Given the description of an element on the screen output the (x, y) to click on. 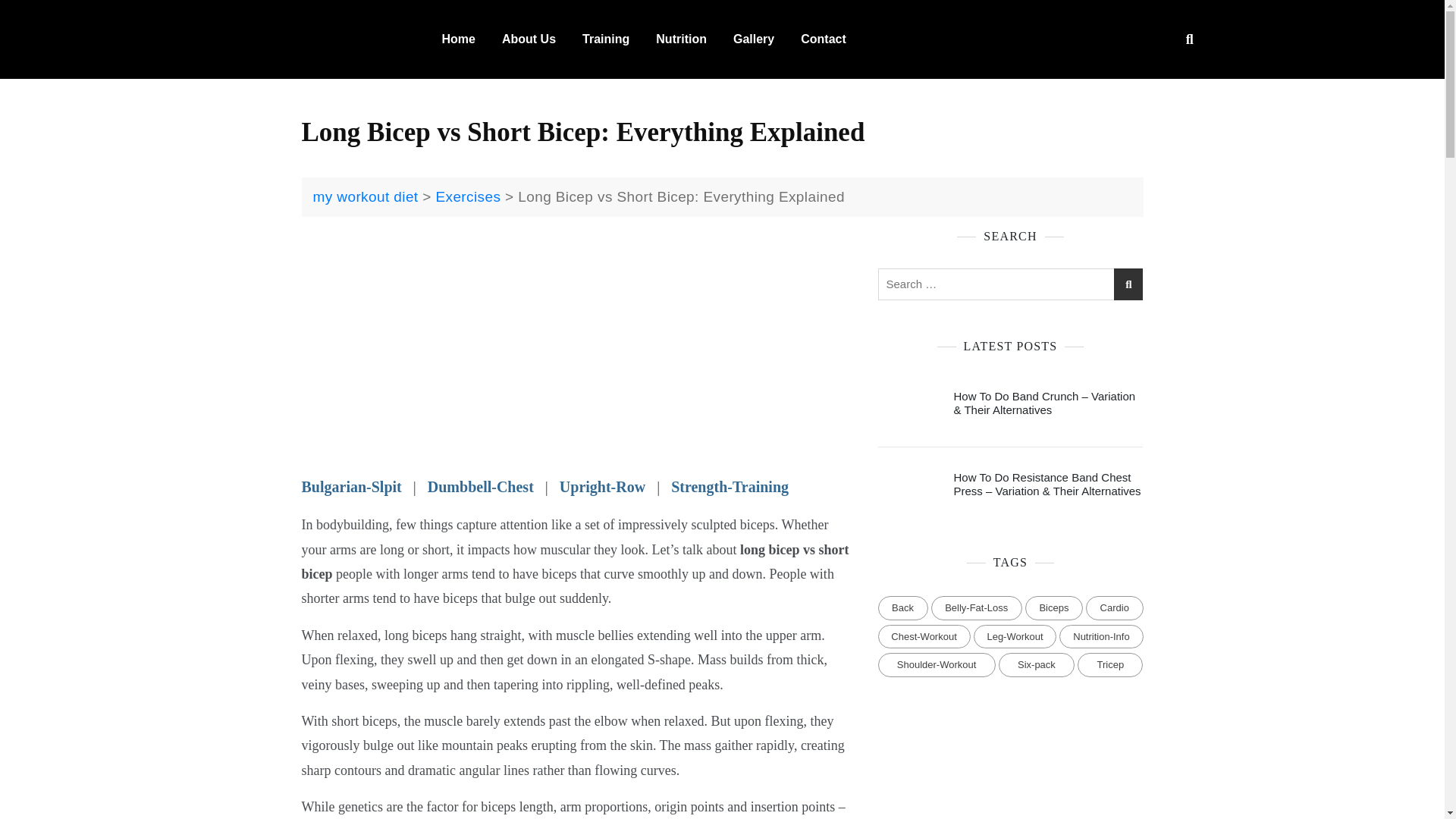
Dumbbell-Chest (486, 486)
Upright-Row (602, 486)
Nutrition (680, 39)
Go to the Exercises Category archives. (467, 196)
Search (132, 8)
Exercises (467, 196)
Biceps (1054, 607)
Training (606, 39)
Strength-Training (730, 486)
Go to my workout diet. (365, 196)
